Given the description of an element on the screen output the (x, y) to click on. 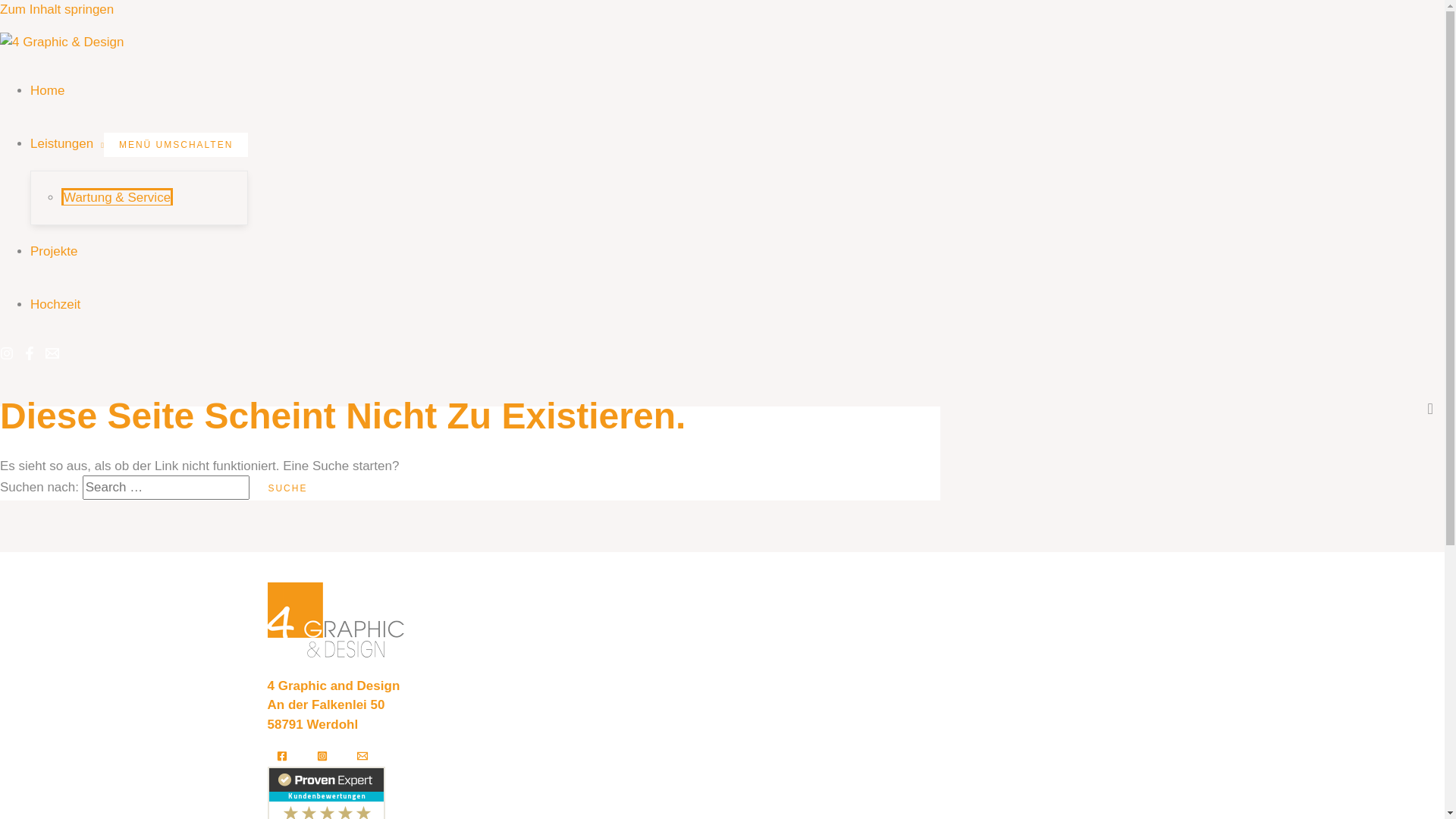
Leistungen Element type: text (66, 143)
Email Element type: text (52, 355)
Home Element type: text (47, 90)
Suche Element type: text (287, 488)
Wartung & Service Element type: text (116, 196)
Projekte Element type: text (53, 251)
Email Element type: text (361, 756)
Hochzeit Element type: text (55, 304)
Zum Inhalt springen Element type: text (56, 9)
